Given the description of an element on the screen output the (x, y) to click on. 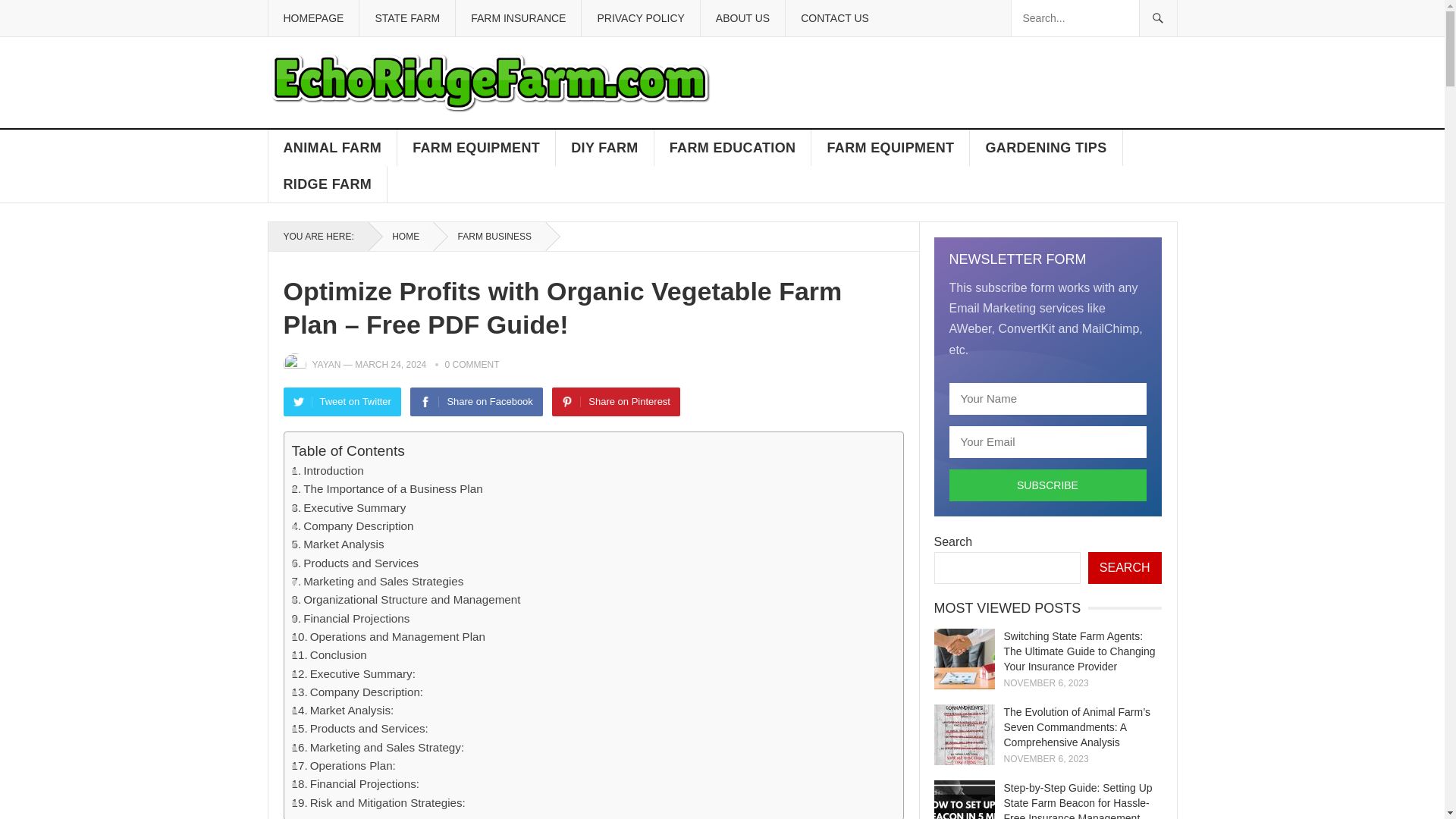
Posts by Yayan (326, 364)
0 COMMENT (472, 364)
Executive Summary (348, 507)
View all posts in Farm Business (488, 235)
Subscribe (1048, 485)
Market Analysis (337, 544)
Share on Pinterest (615, 401)
Operations and Management Plan (387, 637)
FARM EDUCATION (732, 147)
HOME (400, 235)
FARM BUSINESS (488, 235)
Company Description (352, 525)
Conclusion (328, 655)
Introduction (326, 470)
GARDENING TIPS (1045, 147)
